Given the description of an element on the screen output the (x, y) to click on. 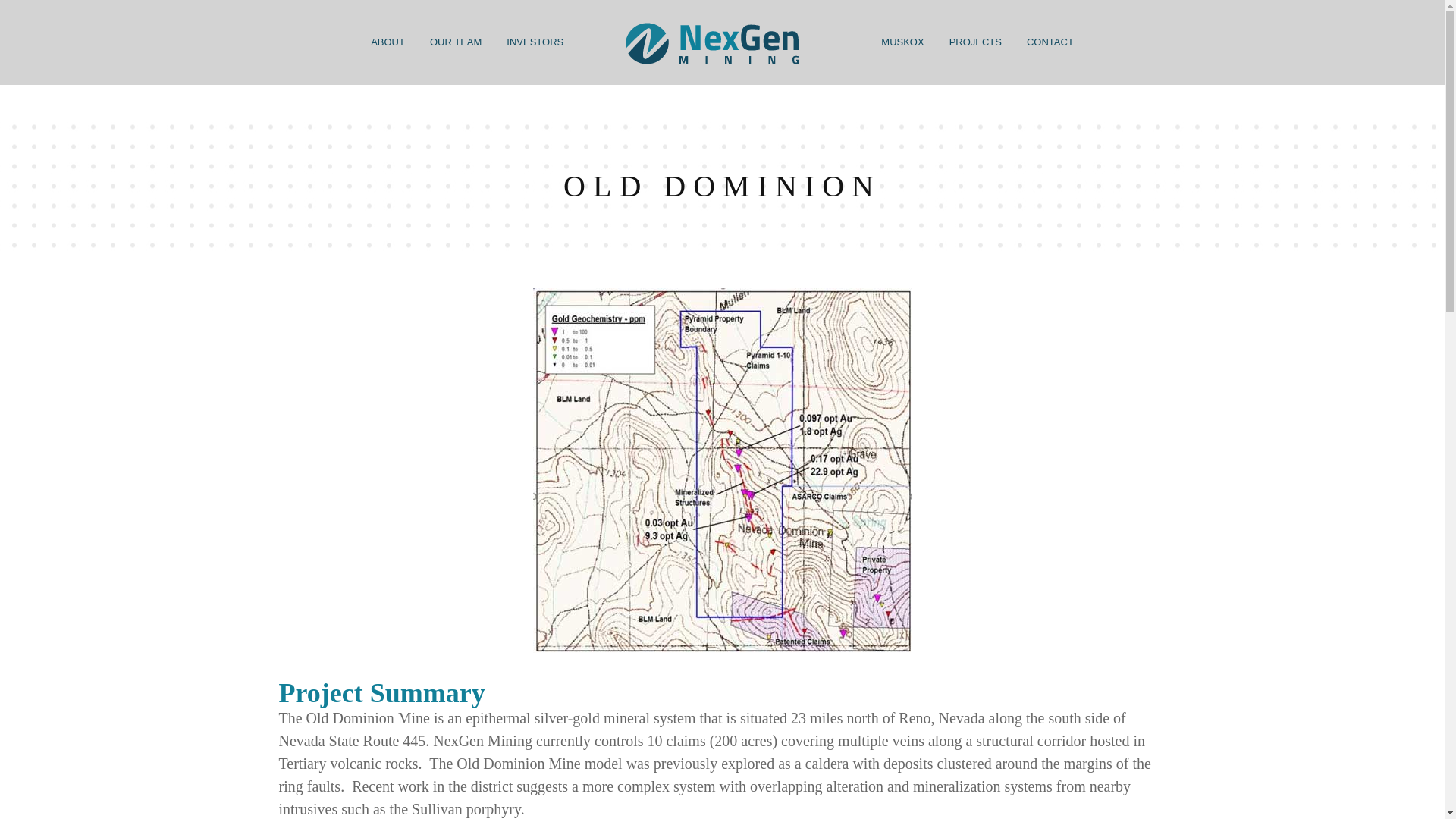
CONTACT (1050, 40)
INVESTORS (534, 40)
OUR TEAM (455, 40)
PROJECTS (975, 40)
